Given the description of an element on the screen output the (x, y) to click on. 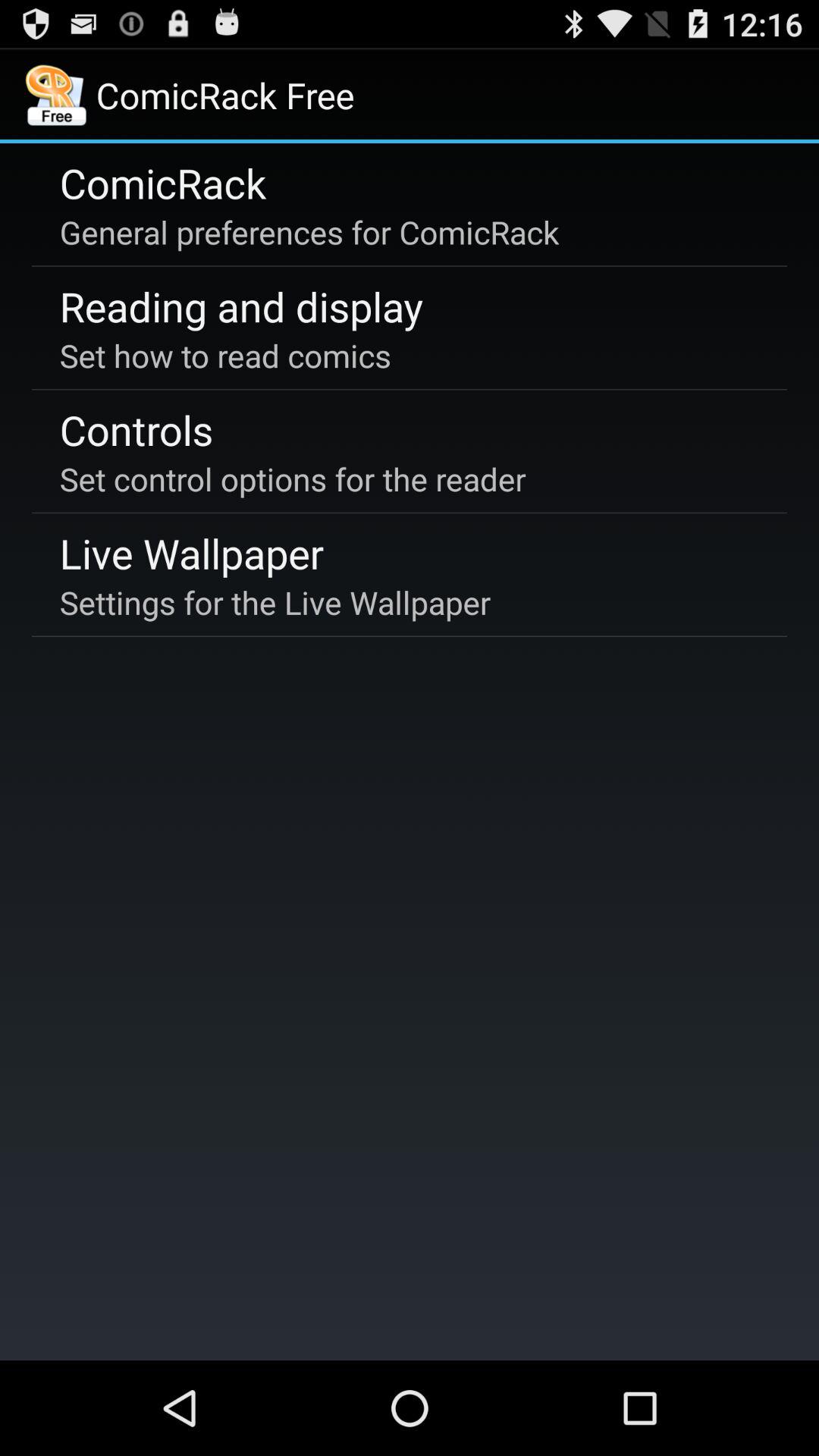
swipe to set control options item (292, 478)
